Given the description of an element on the screen output the (x, y) to click on. 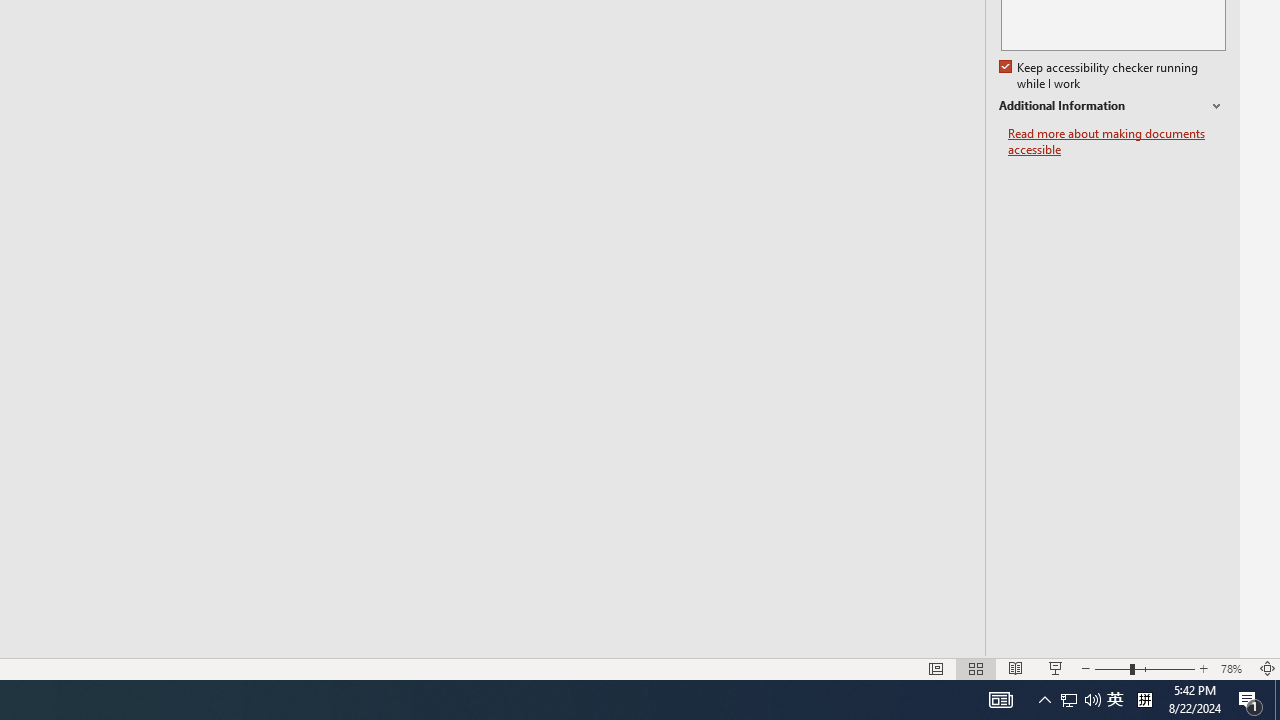
Additional Information (1112, 106)
Keep accessibility checker running while I work (1099, 76)
Read more about making documents accessible (1117, 142)
Zoom 78% (1234, 668)
